Given the description of an element on the screen output the (x, y) to click on. 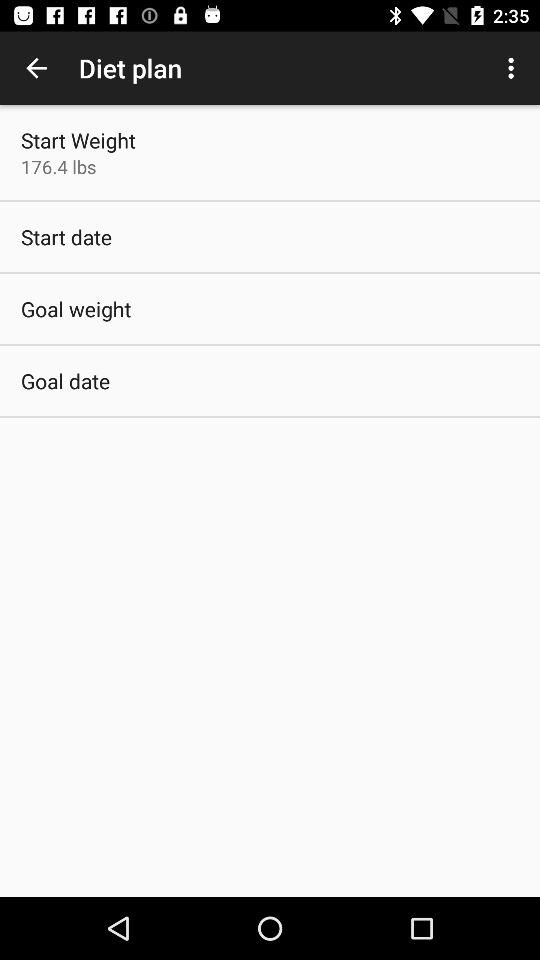
click icon to the right of the diet plan item (513, 67)
